Given the description of an element on the screen output the (x, y) to click on. 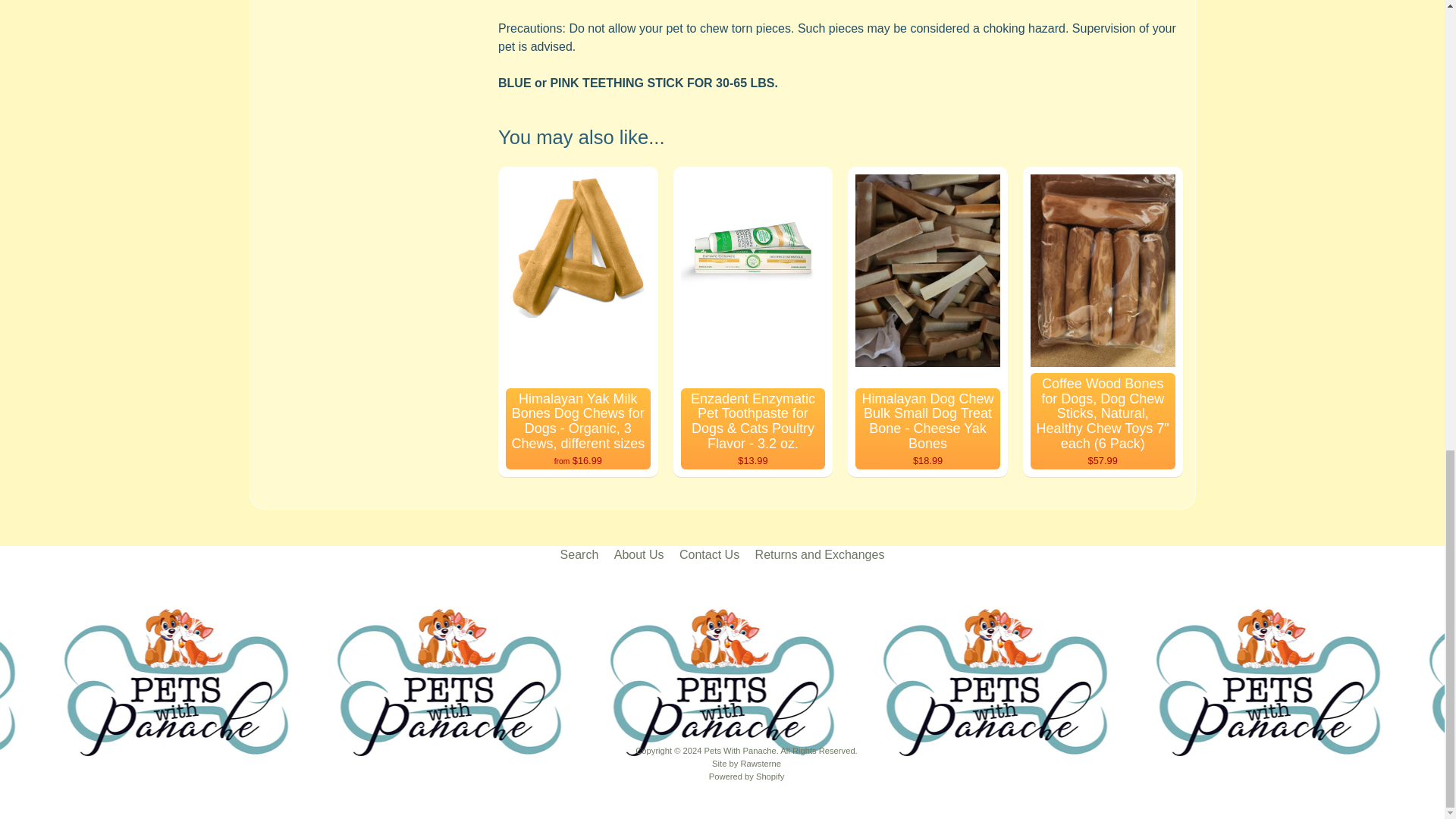
Shopify theme by Rawsterne (745, 763)
